Given the description of an element on the screen output the (x, y) to click on. 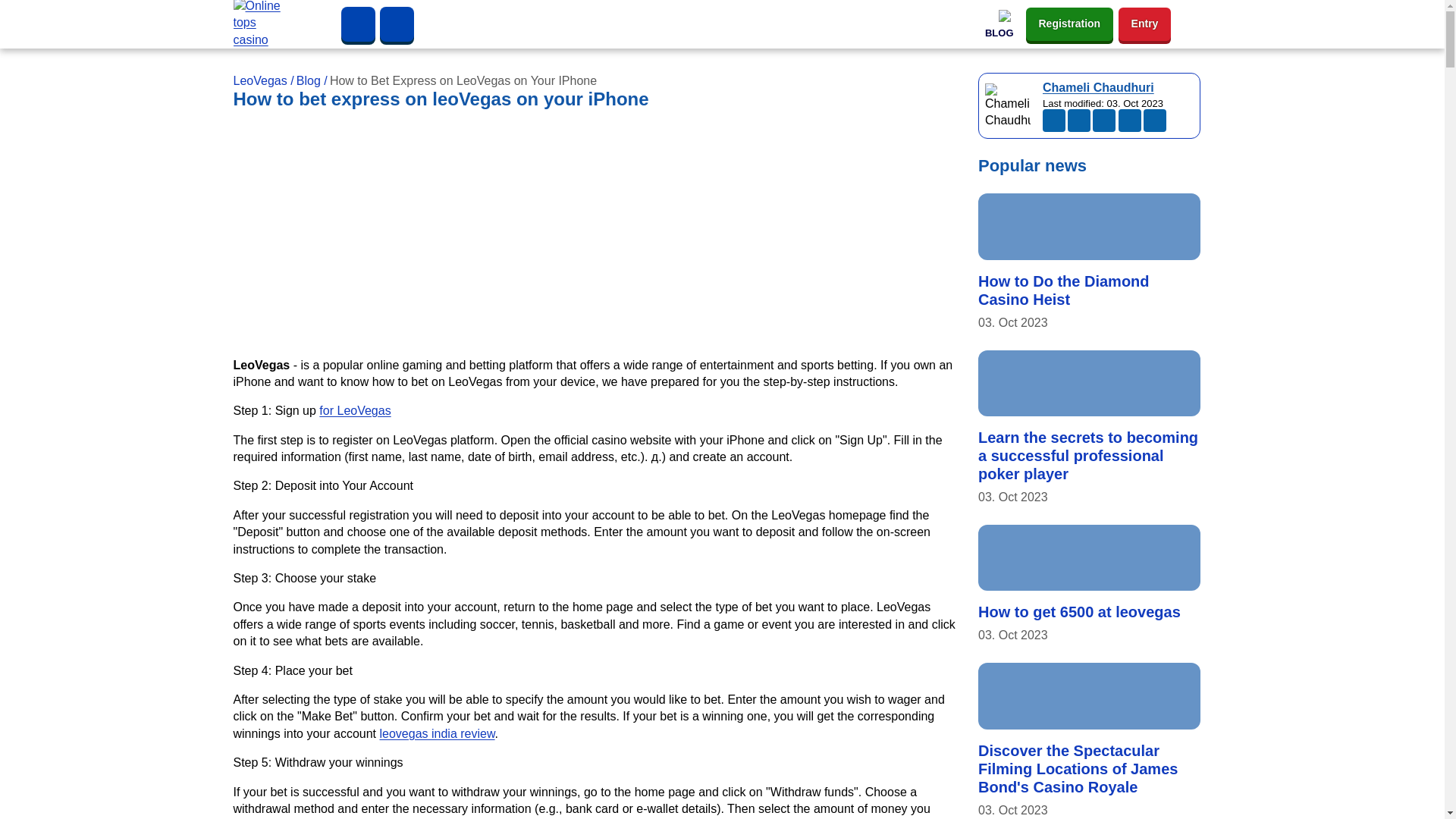
How to get 6500 at leovegas (1088, 557)
How to Do the Diamond Casino Heist (1088, 226)
How to get 6500 at leovegas (1079, 611)
How to Do the Diamond Casino Heist (1064, 289)
Entry (1145, 23)
Chameli Chaudhuri (1098, 87)
